Given the description of an element on the screen output the (x, y) to click on. 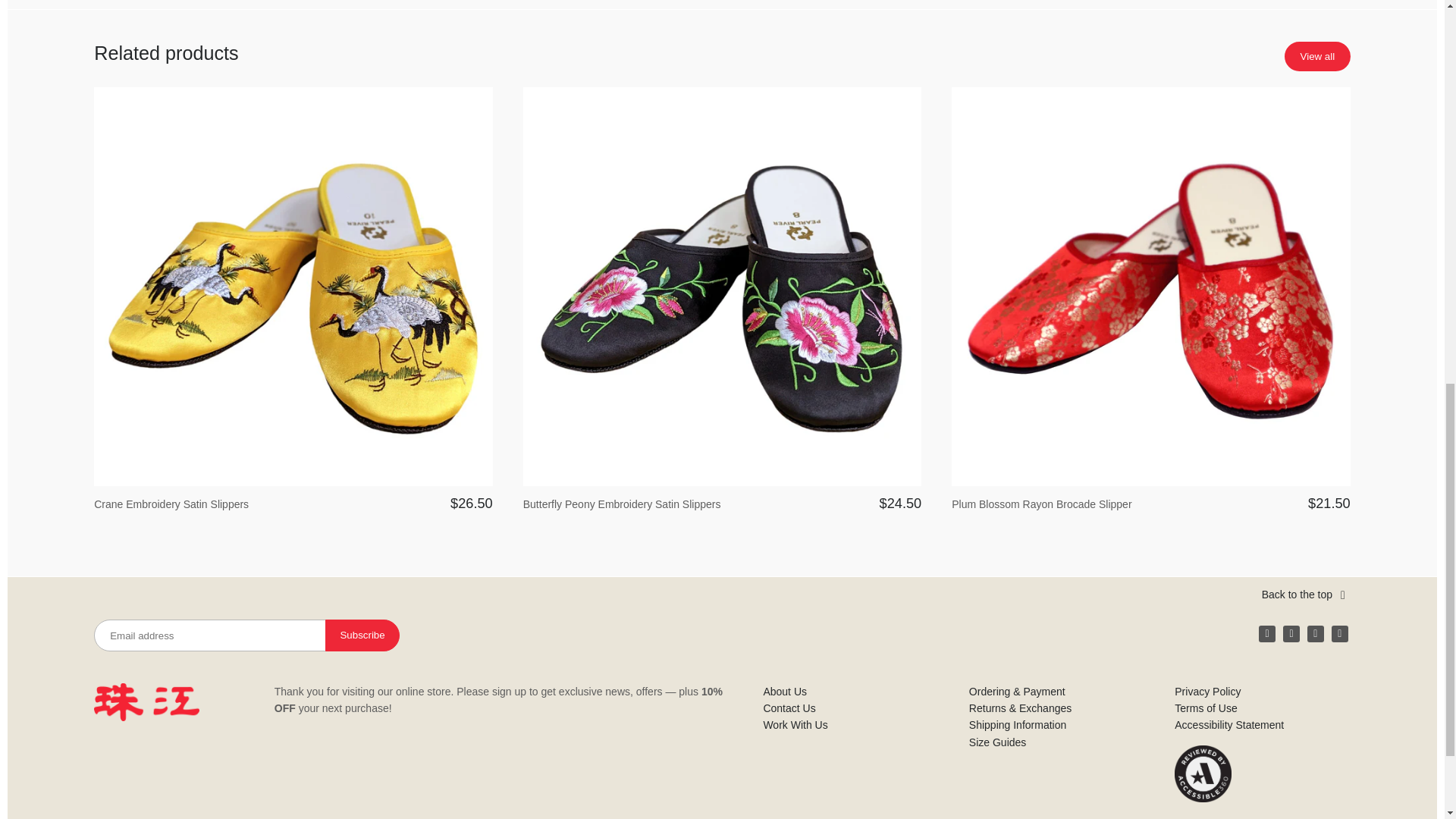
Instagram (1291, 633)
Subscribe (361, 635)
Facebook (1267, 633)
Twitter (1315, 633)
